Given the description of an element on the screen output the (x, y) to click on. 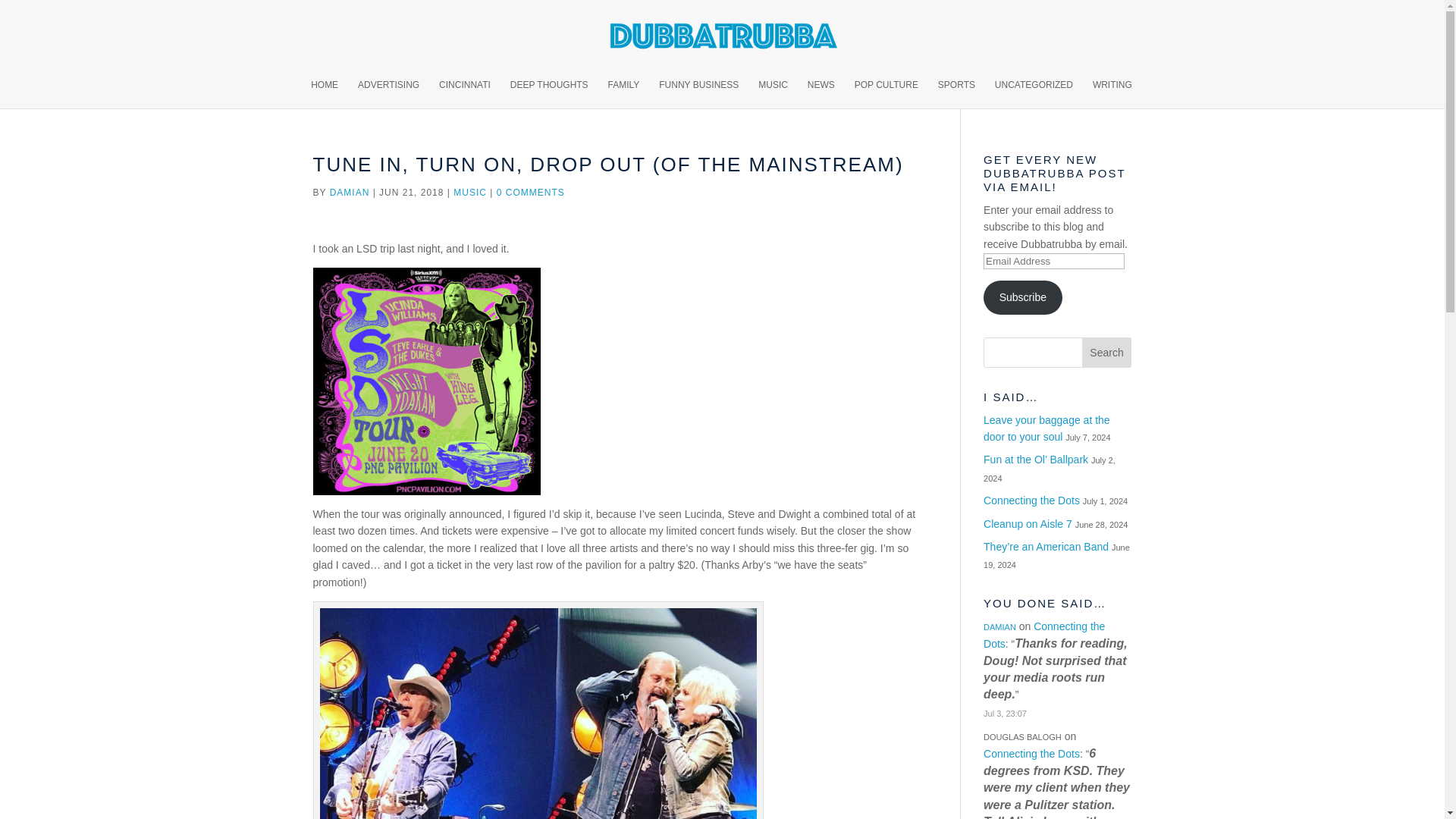
HOME (324, 93)
NEWS (821, 93)
FAMILY (624, 93)
UNCATEGORIZED (1033, 93)
POP CULTURE (886, 93)
0 COMMENTS (530, 192)
DEEP THOUGHTS (549, 93)
Posts by Damian (349, 192)
SPORTS (956, 93)
CINCINNATI (464, 93)
MUSIC (772, 93)
FUNNY BUSINESS (698, 93)
ADVERTISING (388, 93)
Search (1106, 352)
WRITING (1112, 93)
